Given the description of an element on the screen output the (x, y) to click on. 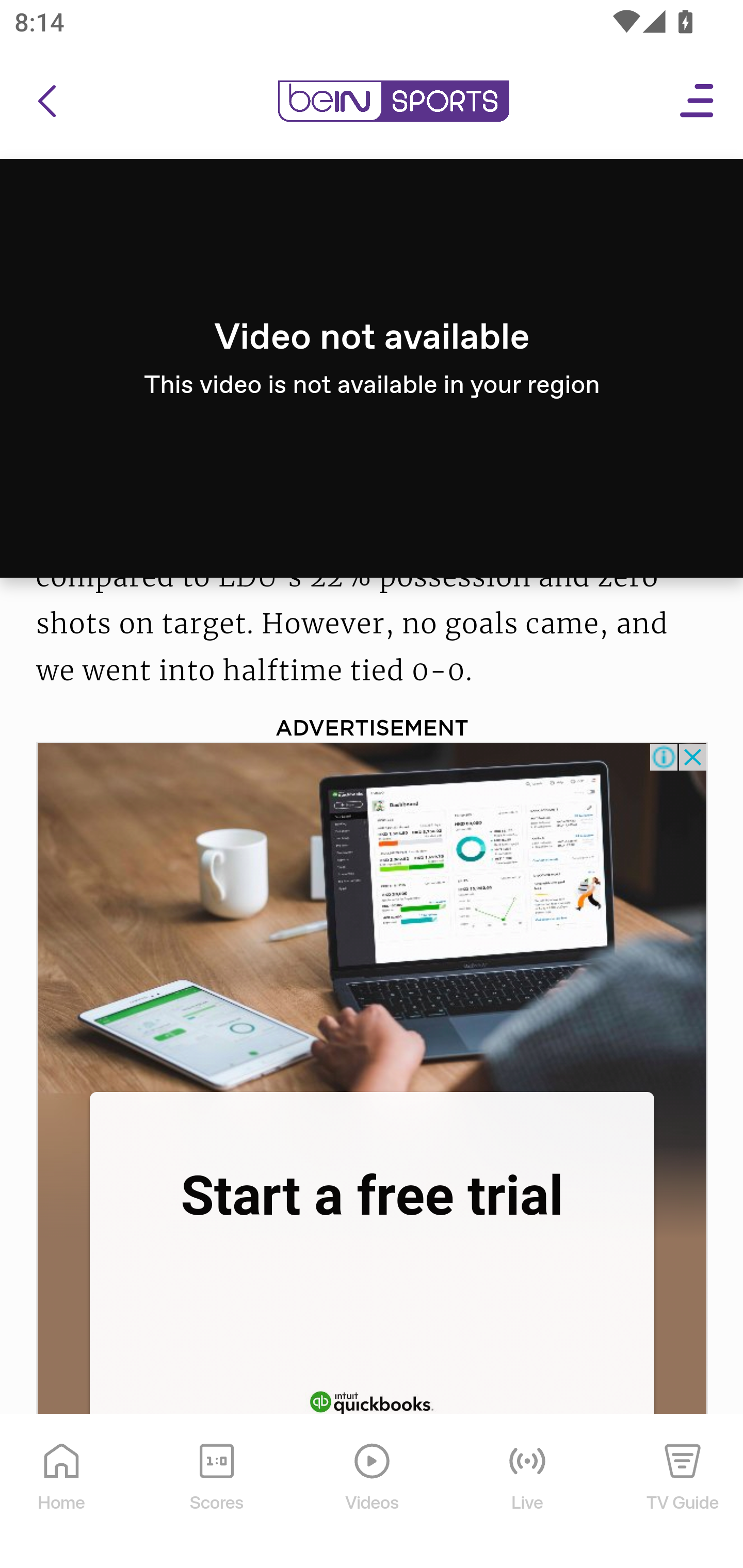
en-us?platform=mobile_android bein logo (392, 101)
icon back (46, 101)
Open Menu Icon (697, 101)
%3Fcid%3Dppc_ROW_%7Bdscampaign%7D%26gclsrc%3Daw (372, 915)
Start a free trial (371, 1195)
%3Fcid%3Dppc_ROW_%7Bdscampaign%7D%26gclsrc%3Daw (371, 1399)
Home Home Icon Home (61, 1491)
Scores Scores Icon Scores (216, 1491)
Videos Videos Icon Videos (372, 1491)
TV Guide TV Guide Icon TV Guide (682, 1491)
